Given the description of an element on the screen output the (x, y) to click on. 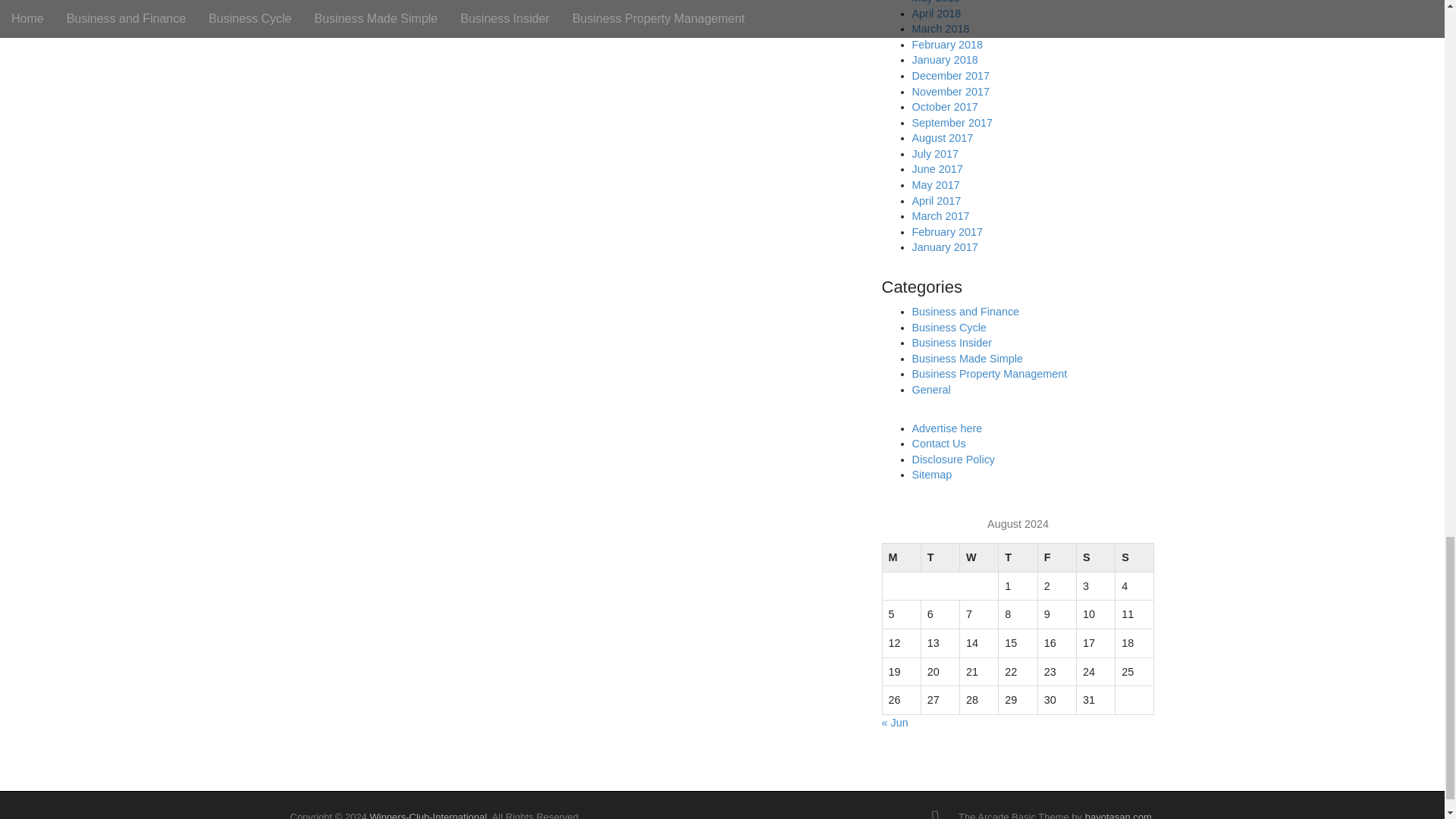
Sunday (1134, 557)
Saturday (1095, 557)
Monday (901, 557)
Friday (1055, 557)
Thursday (1017, 557)
Tuesday (939, 557)
Wednesday (978, 557)
